Given the description of an element on the screen output the (x, y) to click on. 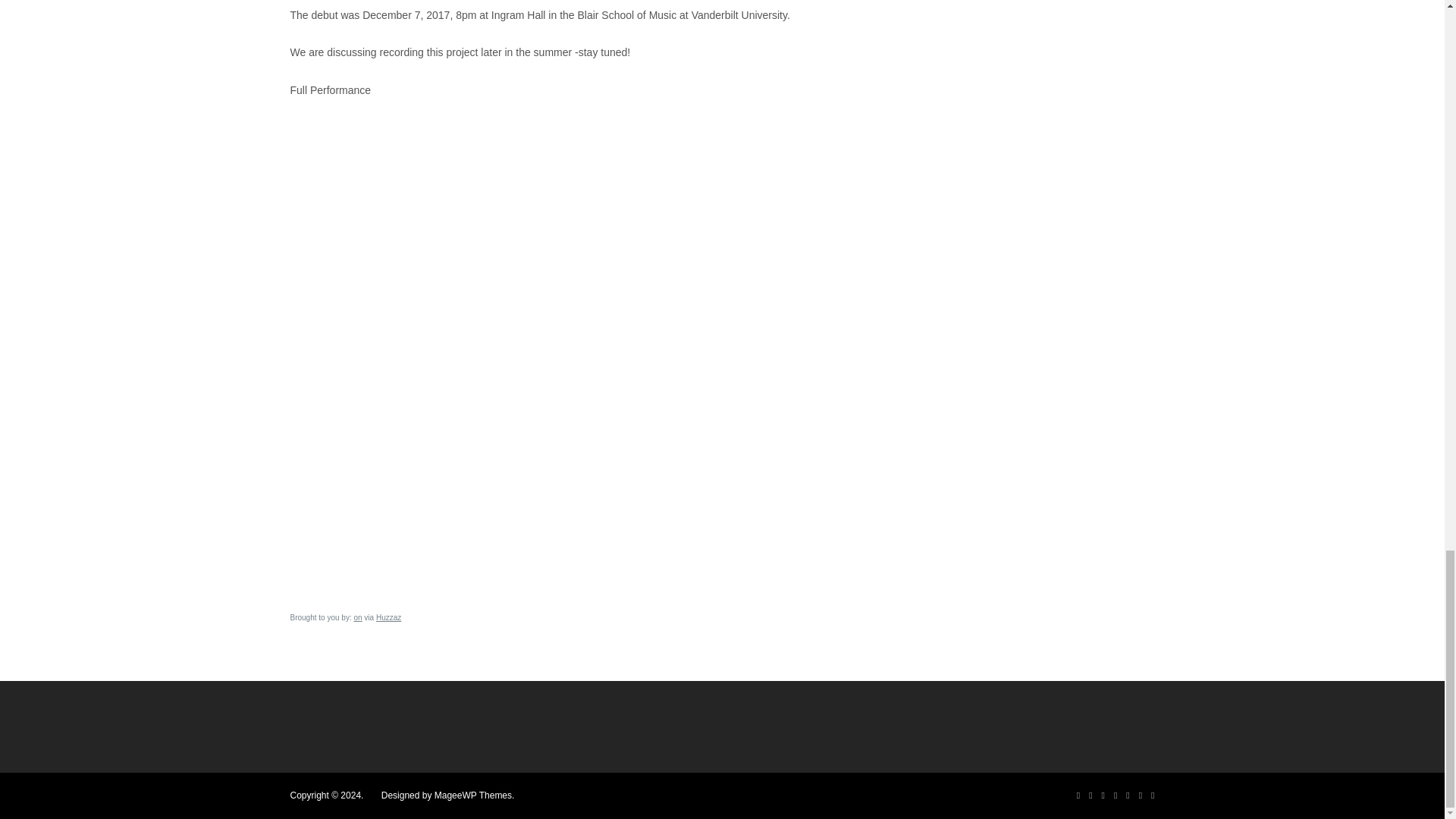
Huzzaz (388, 617)
on (357, 617)
